Given the description of an element on the screen output the (x, y) to click on. 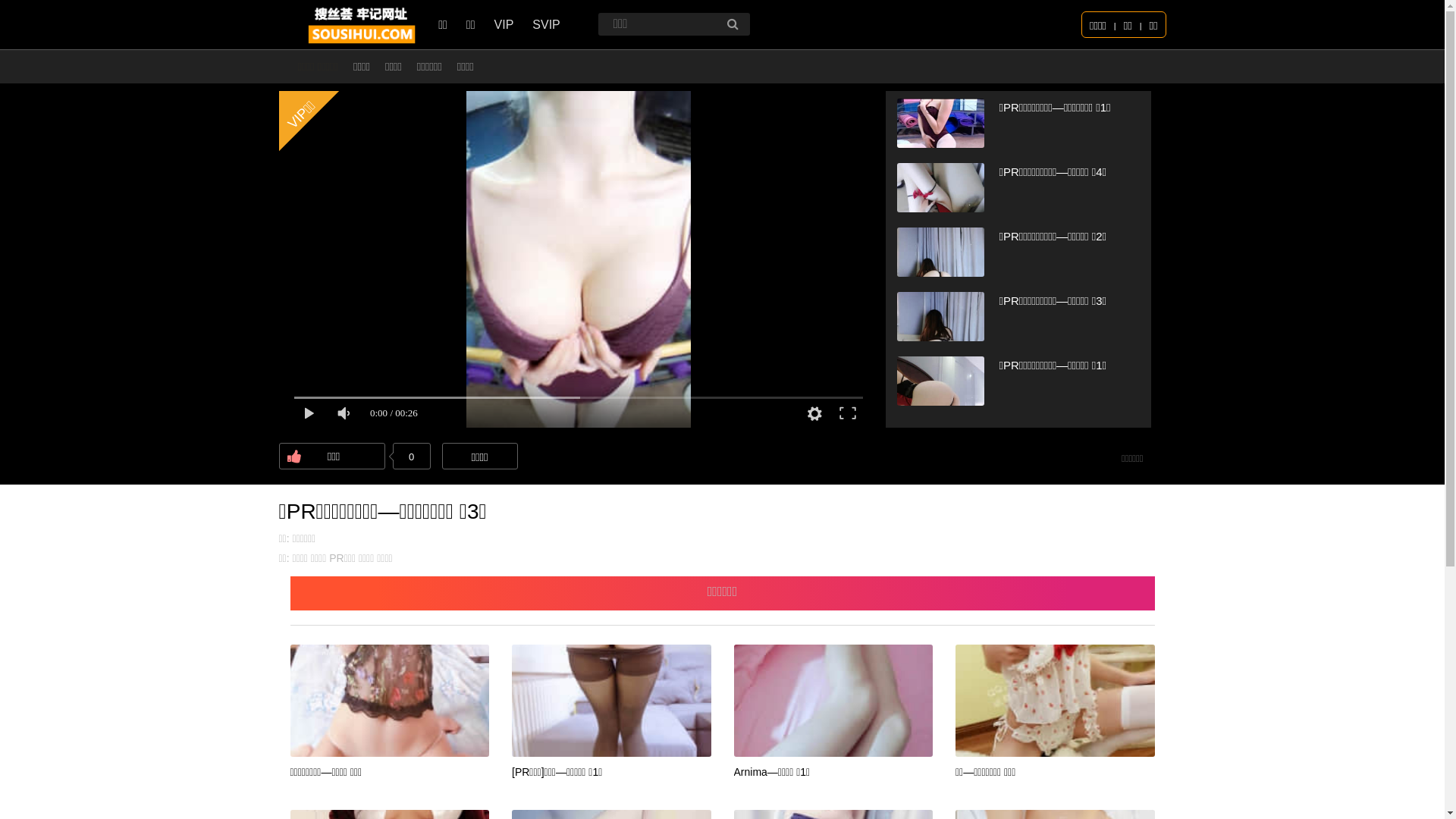
SVIP Element type: text (545, 24)
VIP Element type: text (504, 24)
